Given the description of an element on the screen output the (x, y) to click on. 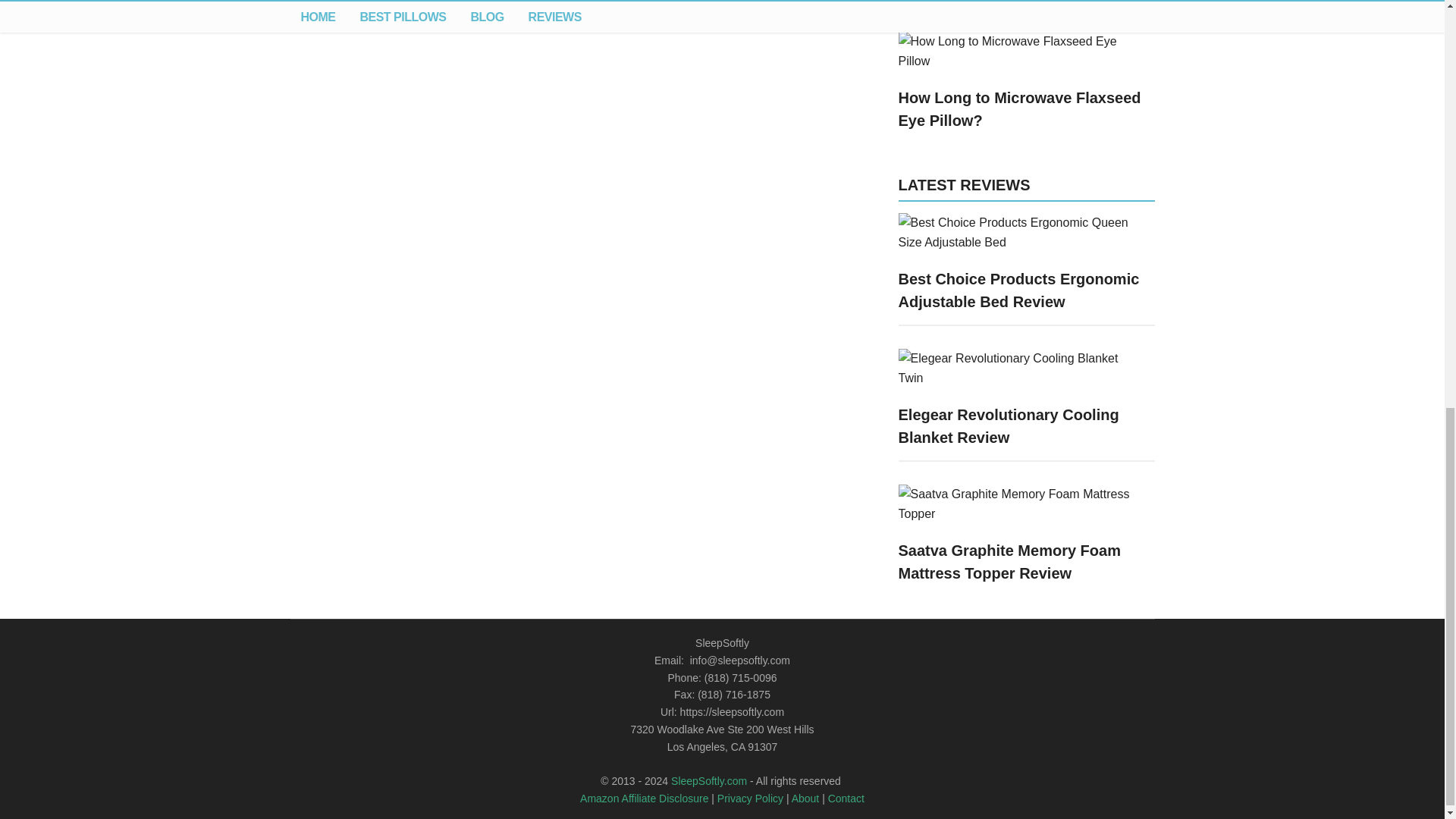
Privacy Policy (750, 798)
Amazon Affiliate Disclosure (643, 798)
How Long to Microwave Flaxseed Eye Pillow? (1019, 108)
Contact (846, 798)
Best Choice Products Ergonomic Adjustable Bed Review (1018, 290)
About (805, 798)
Amazon Affiliate Disclosure (643, 798)
About (805, 798)
SleepSoftly.com (708, 780)
Contact (846, 798)
